Given the description of an element on the screen output the (x, y) to click on. 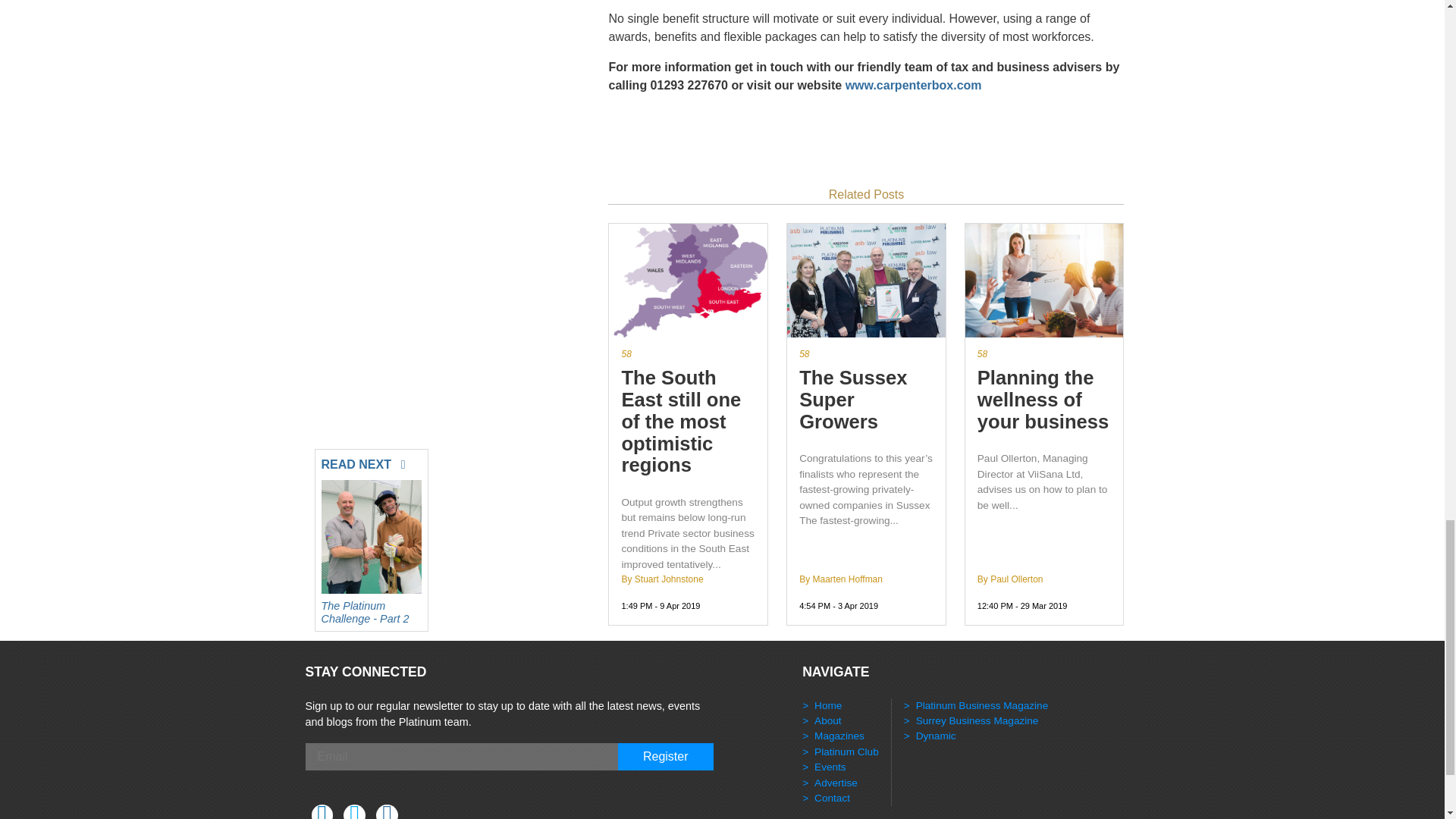
58 (1044, 354)
58 (688, 354)
By Maarten Hoffman (840, 579)
www.carpenterbox.com (913, 84)
By Stuart Johnstone (662, 579)
The Platinum Challenge - Part 2 (371, 608)
The South East still one of the most optimistic regions (688, 420)
58 (866, 354)
READ NEXT (371, 461)
The Sussex Super Growers (866, 399)
